Given the description of an element on the screen output the (x, y) to click on. 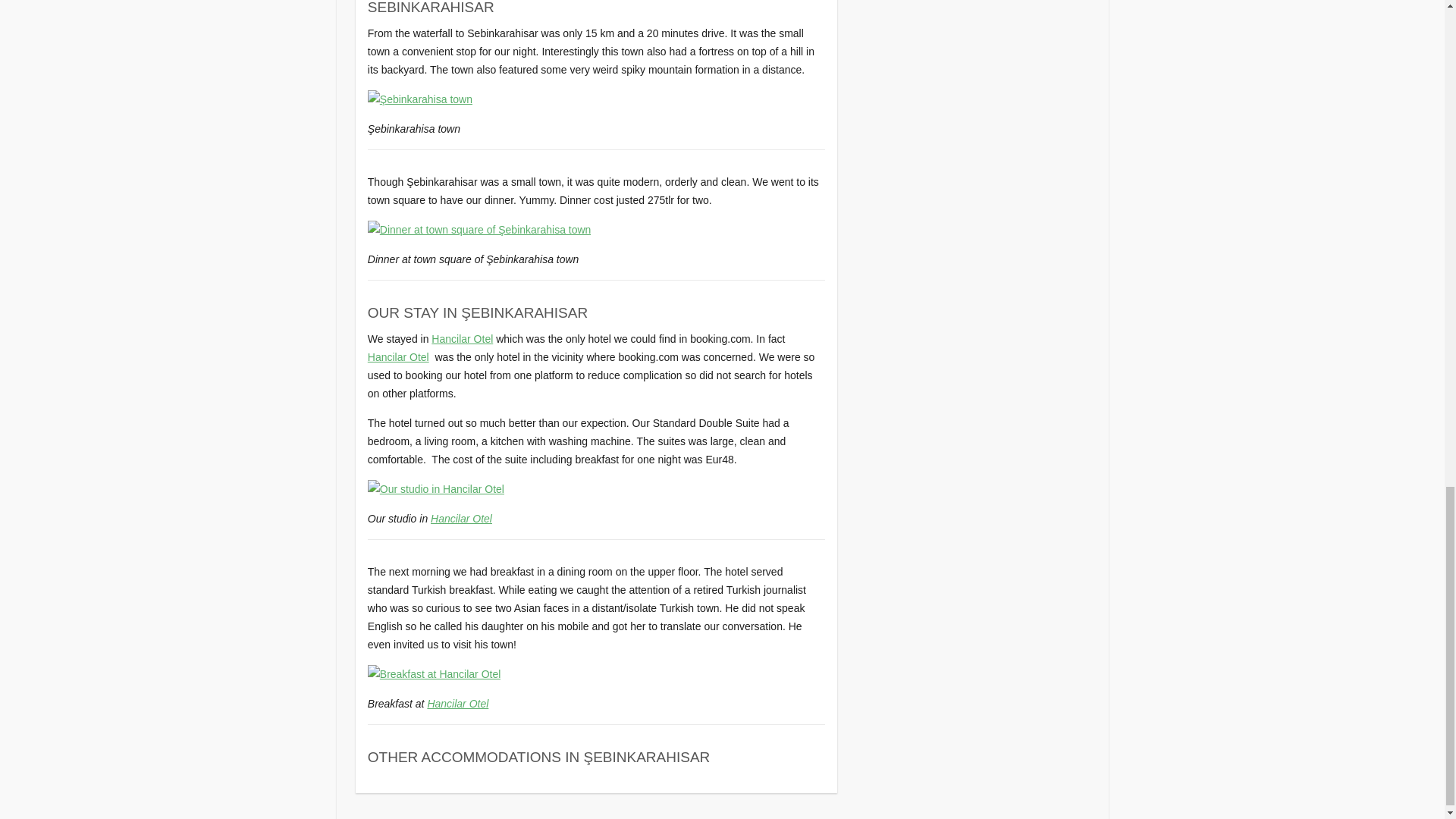
Our room in Hancilar Otel (435, 488)
Breakfast at Hancilar Otel (434, 674)
